Given the description of an element on the screen output the (x, y) to click on. 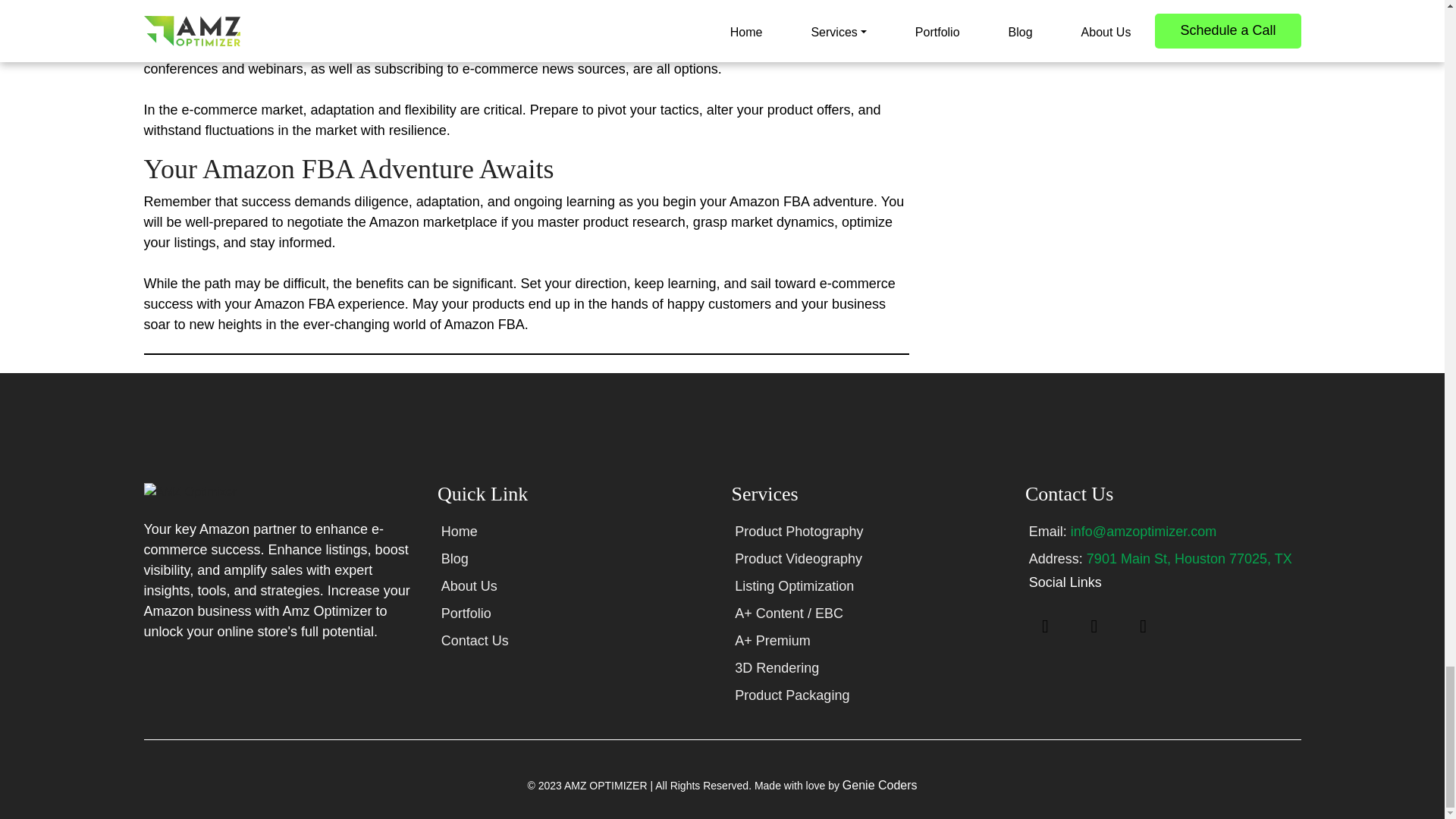
Product Videography (798, 558)
Product Photography (799, 531)
About Us (469, 585)
7901 Main St, Houston 77025, TX (1189, 558)
Product Packaging (791, 694)
Portfolio (466, 613)
Contact Us (474, 640)
Listing Optimization (794, 585)
Blog (454, 558)
Home (459, 531)
3D Rendering (776, 667)
